Given the description of an element on the screen output the (x, y) to click on. 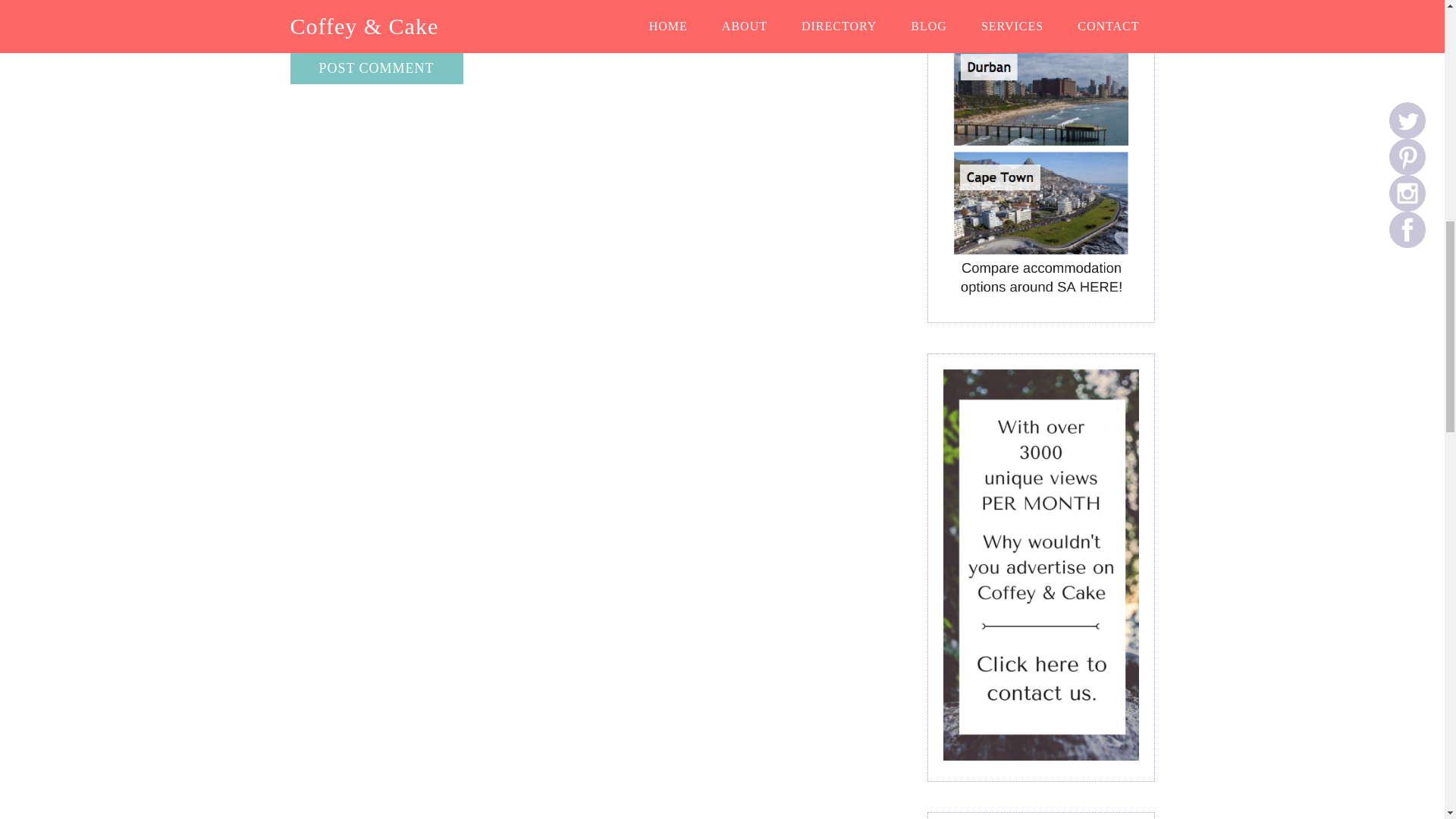
subscribe (296, 40)
Post Comment (376, 68)
Post Comment (376, 68)
subscribe (296, 21)
